Given the description of an element on the screen output the (x, y) to click on. 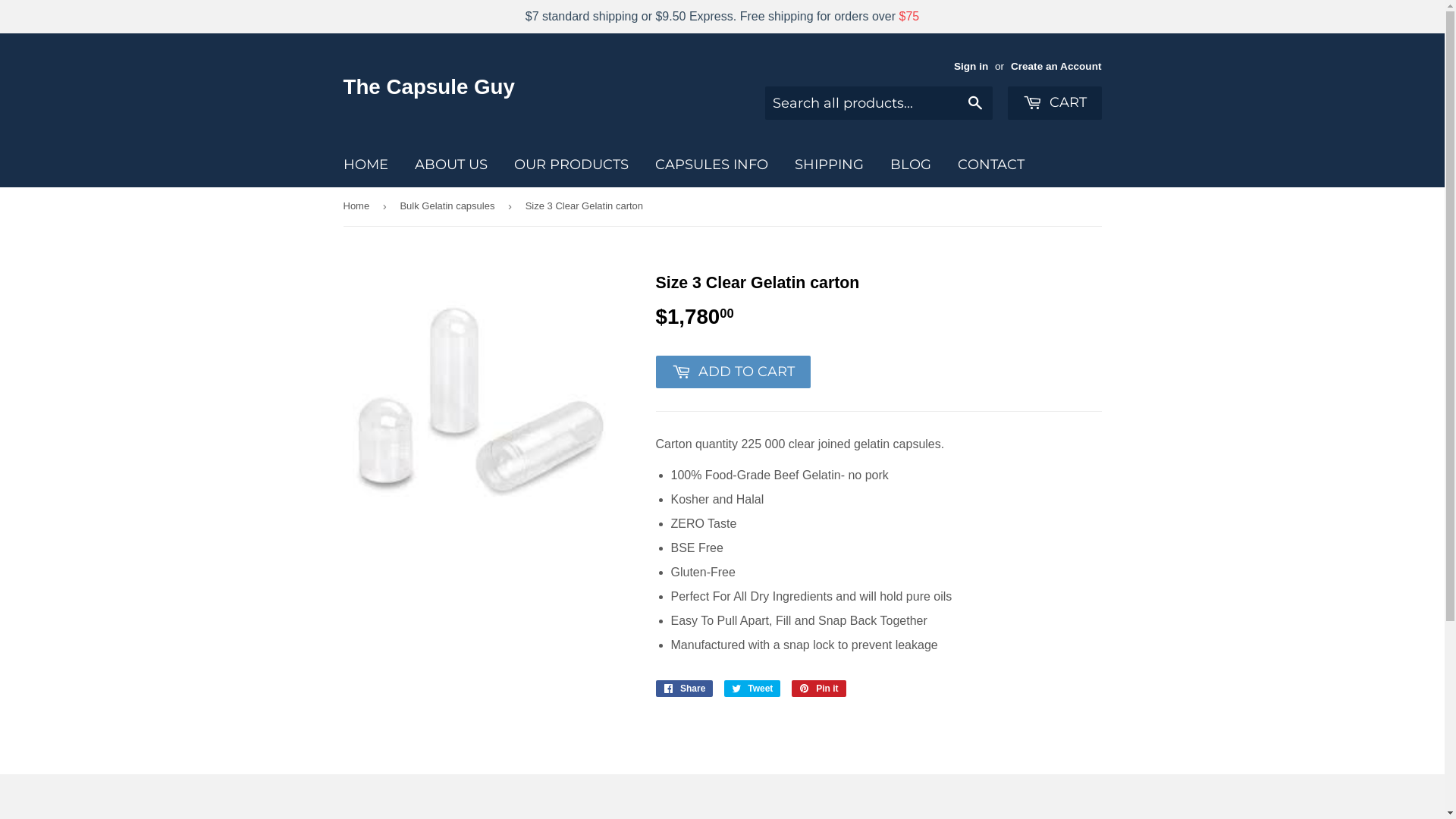
Search Element type: text (975, 103)
Sign in Element type: text (970, 66)
Tweet
Tweet on Twitter Element type: text (752, 688)
OUR PRODUCTS Element type: text (570, 164)
Create an Account Element type: text (1055, 66)
ABOUT US Element type: text (450, 164)
CAPSULES INFO Element type: text (710, 164)
The Capsule Guy Element type: text (531, 87)
BLOG Element type: text (909, 164)
HOME Element type: text (365, 164)
CART Element type: text (1054, 102)
Bulk Gelatin capsules Element type: text (449, 206)
ADD TO CART Element type: text (732, 372)
CONTACT Element type: text (990, 164)
SHIPPING Element type: text (828, 164)
Pin it
Pin on Pinterest Element type: text (818, 688)
Share
Share on Facebook Element type: text (683, 688)
Home Element type: text (358, 206)
